Given the description of an element on the screen output the (x, y) to click on. 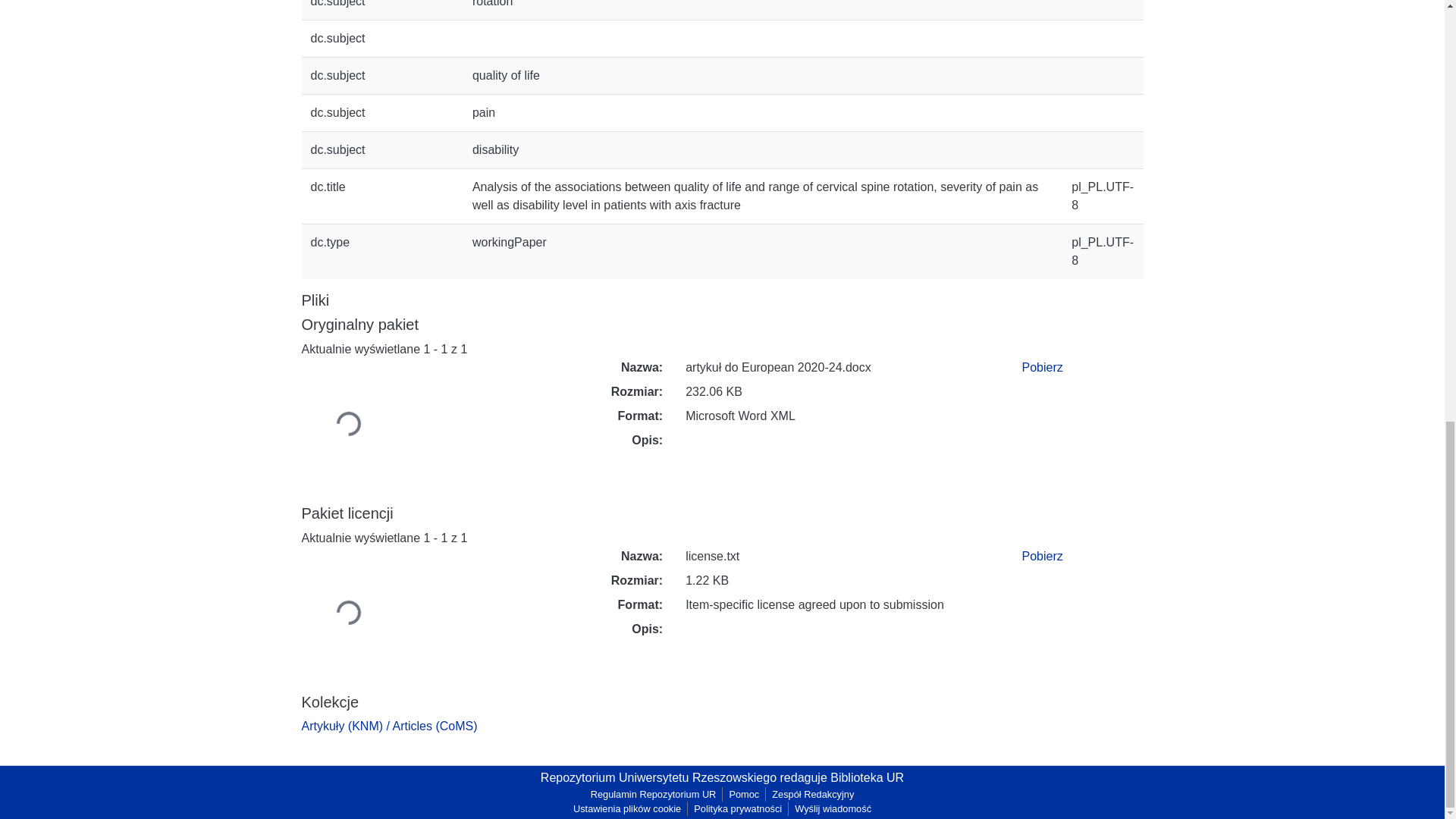
Regulamin Repozytorium UR (653, 794)
Pobierz (1042, 367)
Pobierz (1042, 555)
Biblioteka UR (866, 777)
Pomoc (743, 794)
Uniwersytetu Rzeszowskiego (697, 777)
